Given the description of an element on the screen output the (x, y) to click on. 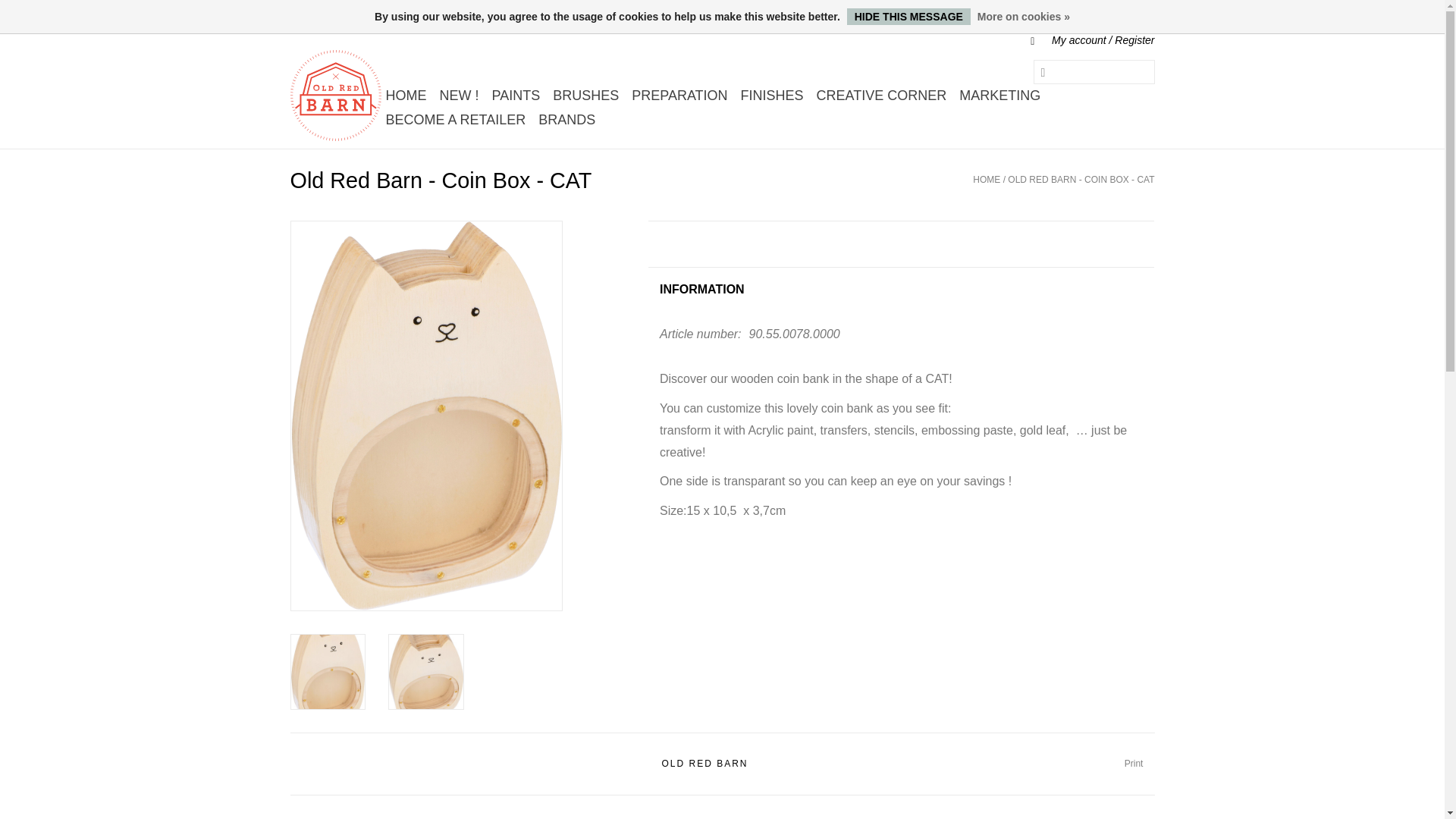
PAINTS (515, 95)
HOME (405, 95)
Old Red Barn (334, 94)
BRUSHES (585, 95)
NEW ! (459, 95)
My account (1084, 39)
Paints (515, 95)
PREPARATION (679, 95)
NEW ! (459, 95)
